Given the description of an element on the screen output the (x, y) to click on. 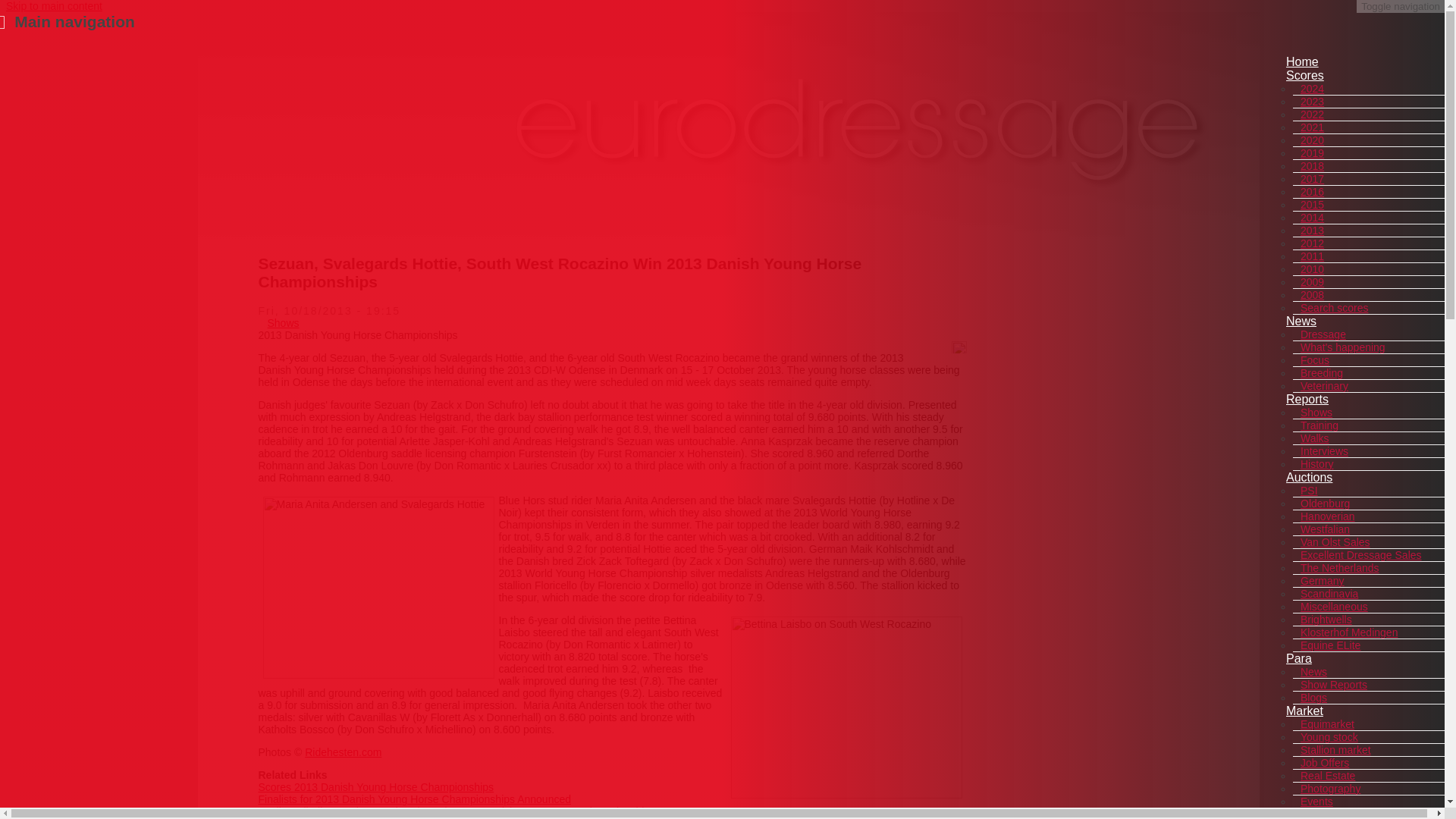
Veterinary (1323, 385)
Oldenburg (1324, 502)
Focus (1314, 359)
Breeding (1321, 372)
Maria Anita Andersen and Svalegards Hottie (377, 587)
News (1300, 320)
Home (1301, 61)
2011 (1312, 256)
Scores (1304, 74)
What's happening (1342, 347)
